Given the description of an element on the screen output the (x, y) to click on. 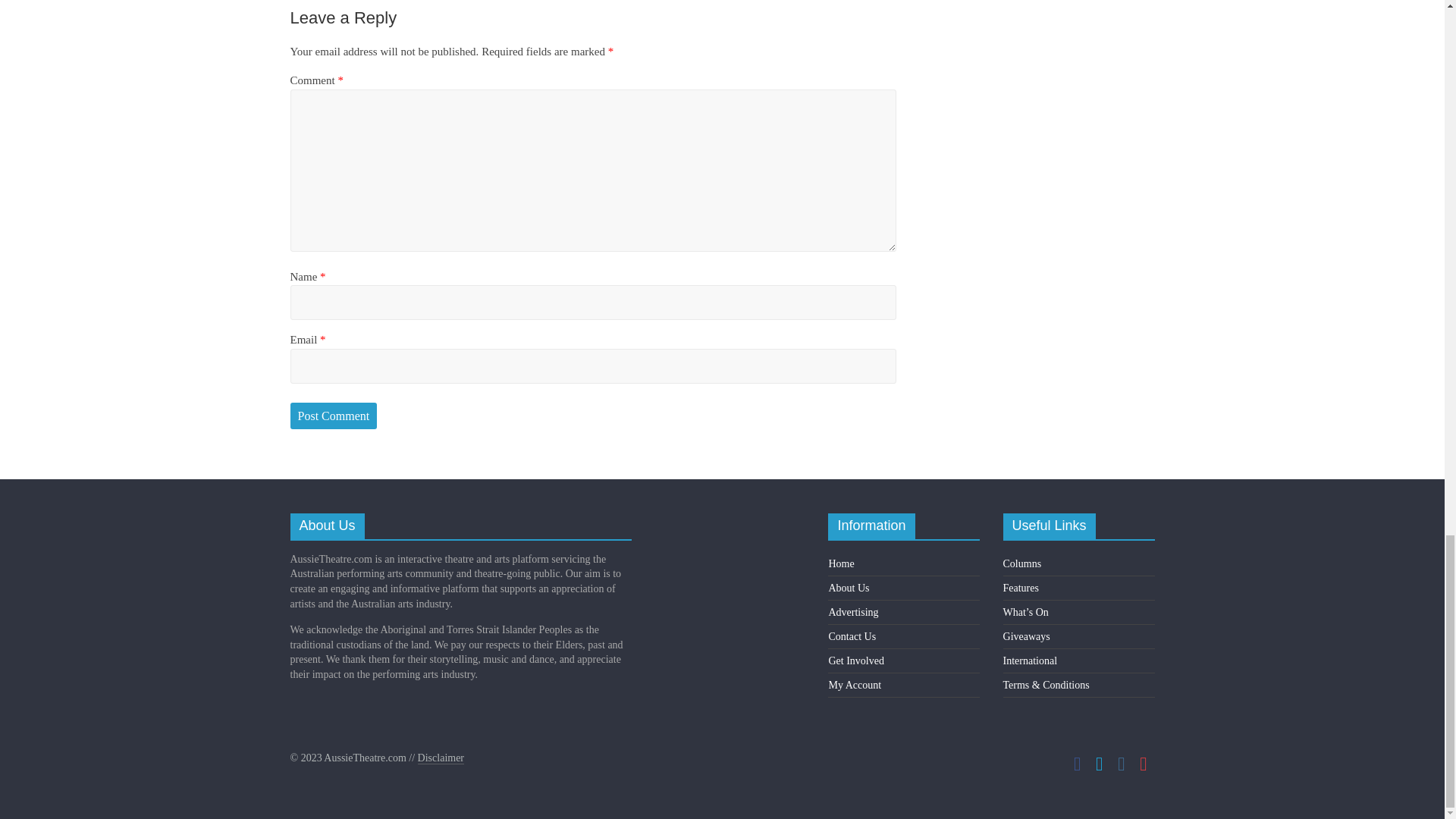
Post Comment (333, 415)
Home (840, 563)
Post Comment (333, 415)
About Us (848, 587)
